Given the description of an element on the screen output the (x, y) to click on. 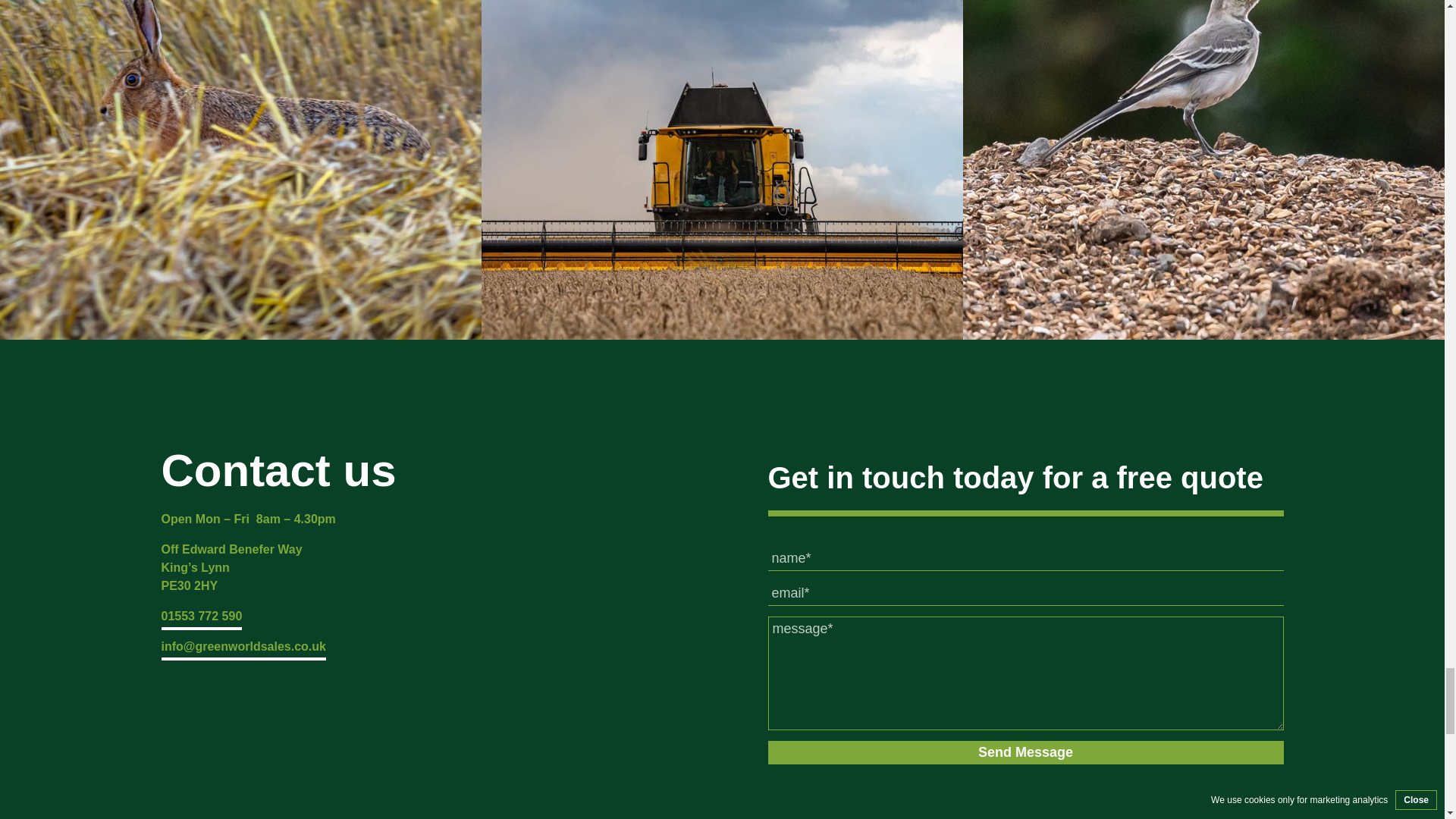
01553 772 590 (200, 615)
Send Message (1024, 752)
Send Message (1024, 752)
